Given the description of an element on the screen output the (x, y) to click on. 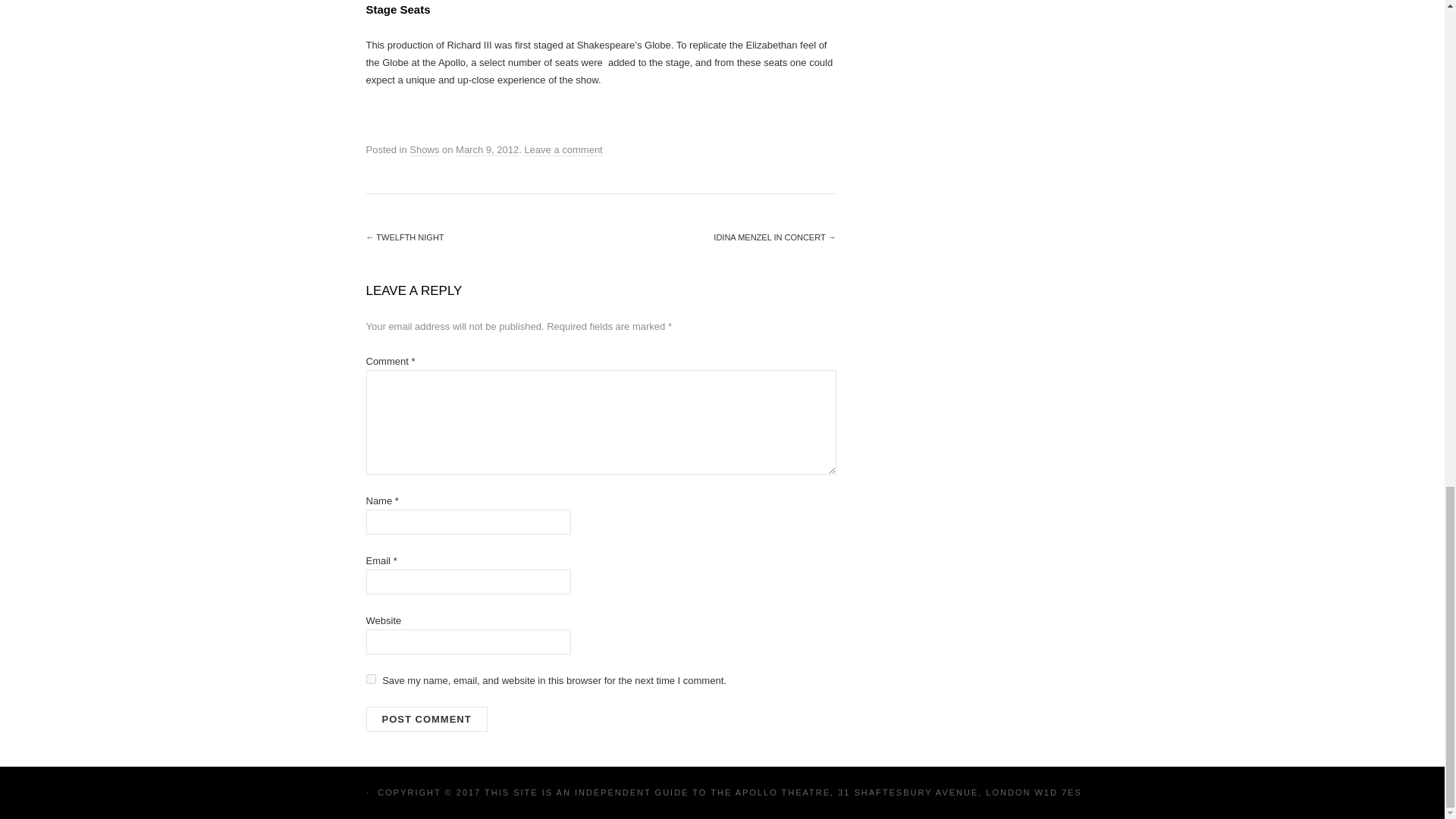
Shows (424, 150)
3:51 pm (486, 150)
March 9, 2012 (486, 150)
yes (370, 678)
Post Comment (425, 719)
Leave a comment (563, 150)
Post Comment (425, 719)
